Given the description of an element on the screen output the (x, y) to click on. 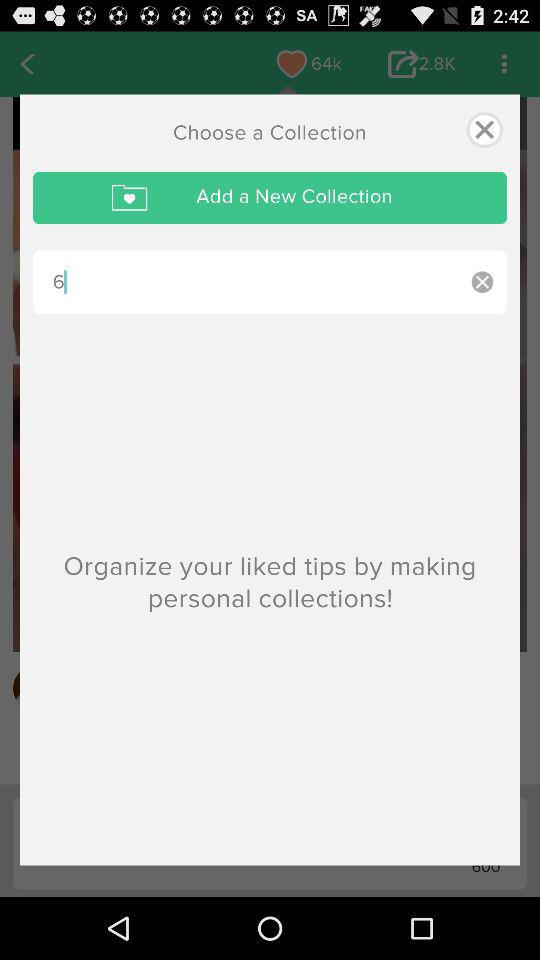
turn off item next to the 6 icon (482, 281)
